Given the description of an element on the screen output the (x, y) to click on. 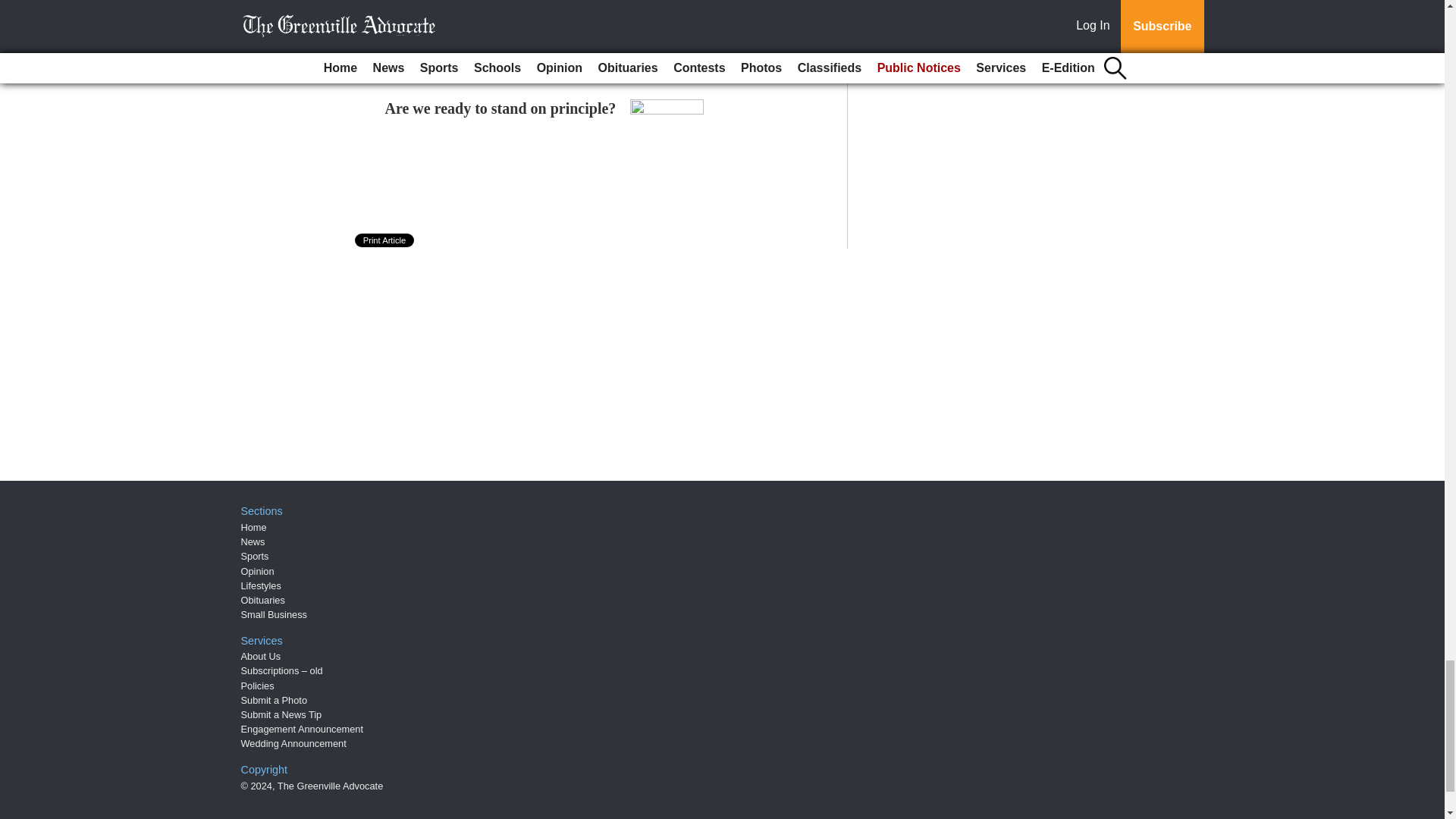
Are we ready to stand on principle? (500, 108)
Are we ready to stand on principle? (500, 108)
Print Article (384, 240)
